Given the description of an element on the screen output the (x, y) to click on. 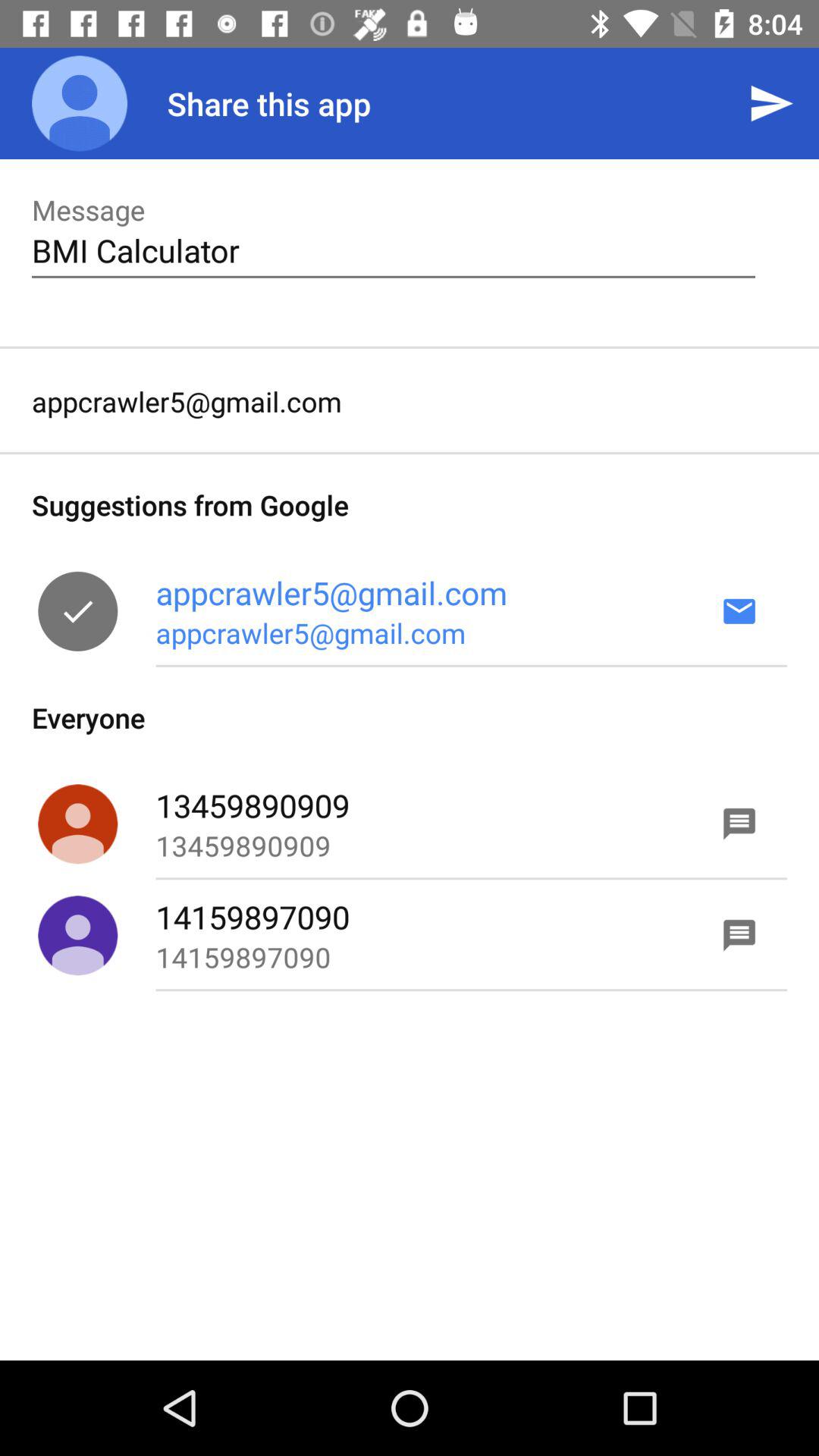
flip until bmi calculator  icon (393, 249)
